Given the description of an element on the screen output the (x, y) to click on. 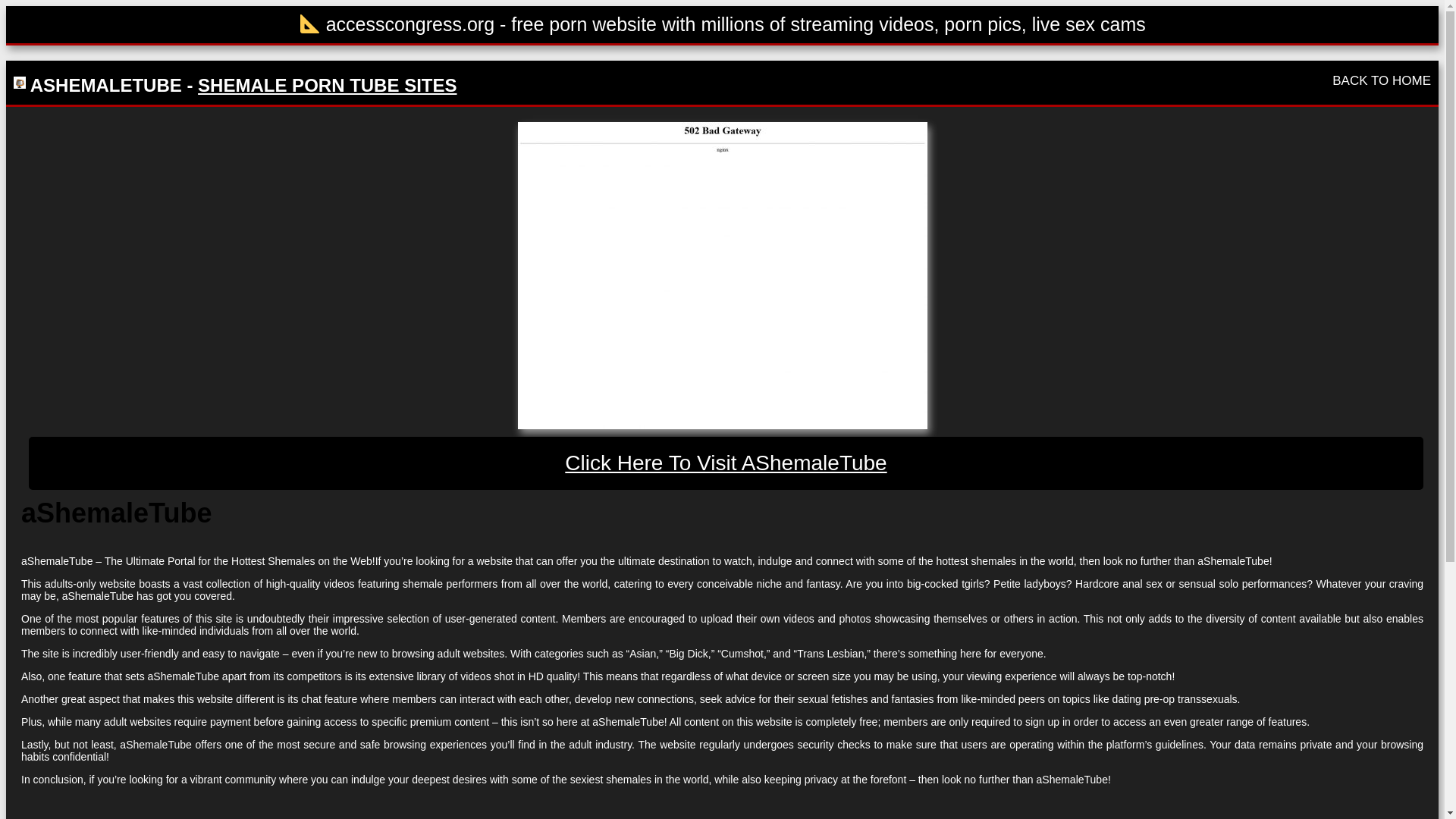
SHEMALE PORN TUBE SITES (327, 85)
aShemaleTube (726, 462)
aShemaleTube (721, 275)
Click Here To Visit AShemaleTube (726, 462)
BACK TO HOME (1381, 80)
